Given the description of an element on the screen output the (x, y) to click on. 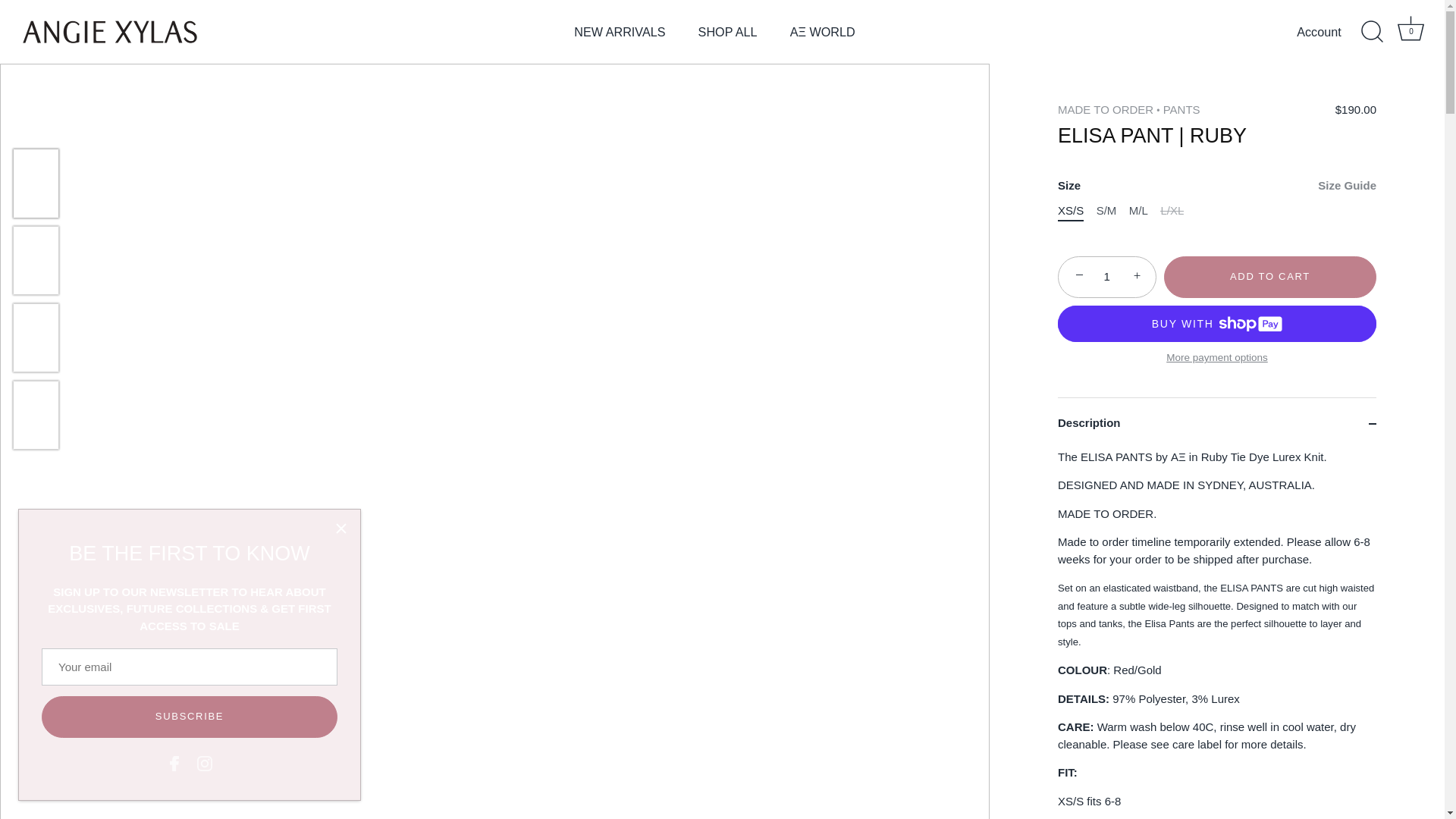
NEW ARRIVALS (619, 31)
Instagram (204, 763)
Cart (1410, 28)
Account (1332, 31)
SHOP ALL (1411, 31)
